Given the description of an element on the screen output the (x, y) to click on. 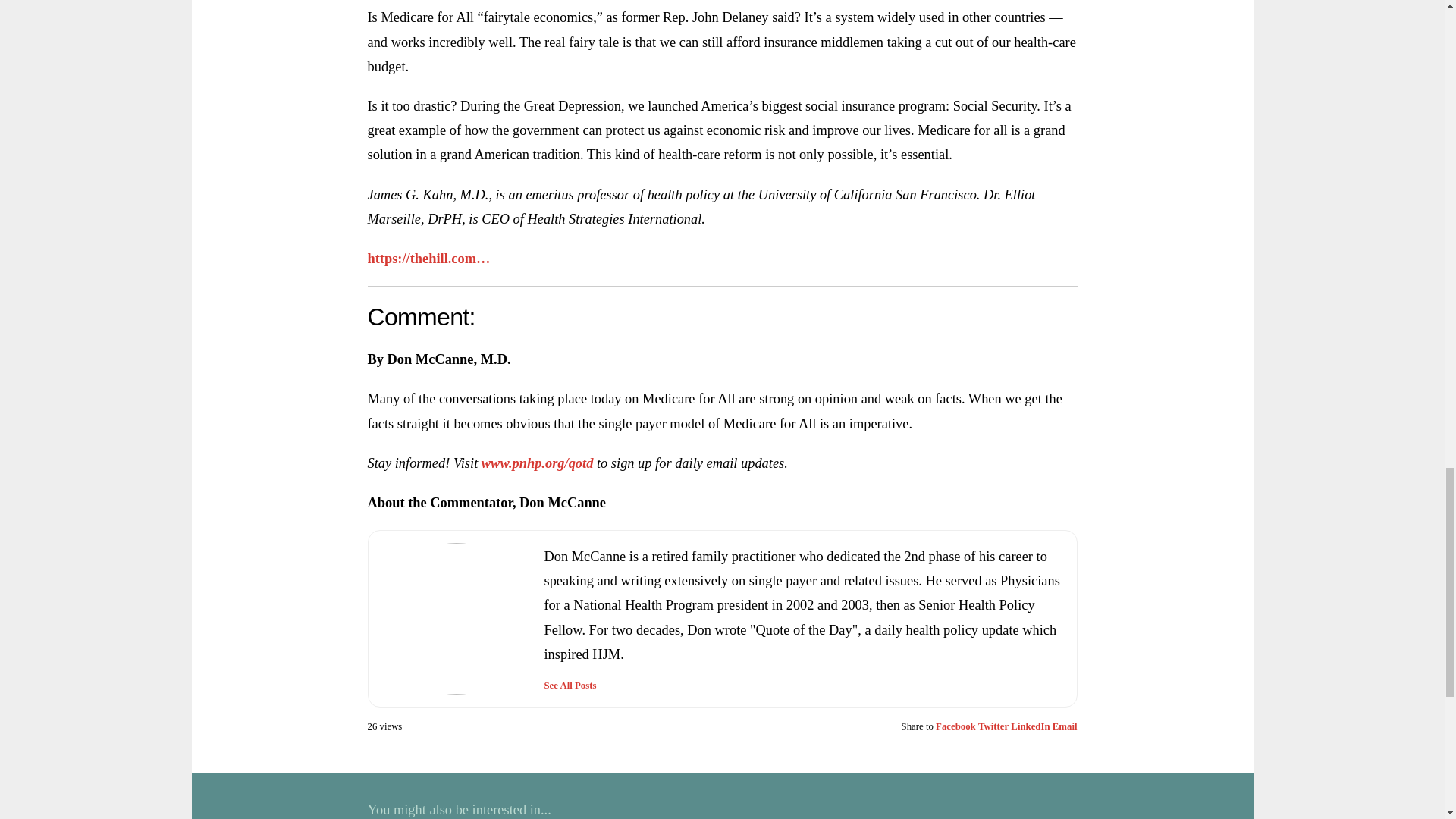
Facebook (955, 726)
Email (1064, 726)
Twitter (993, 726)
LinkedIn (1029, 726)
See All Posts (570, 685)
